Given the description of an element on the screen output the (x, y) to click on. 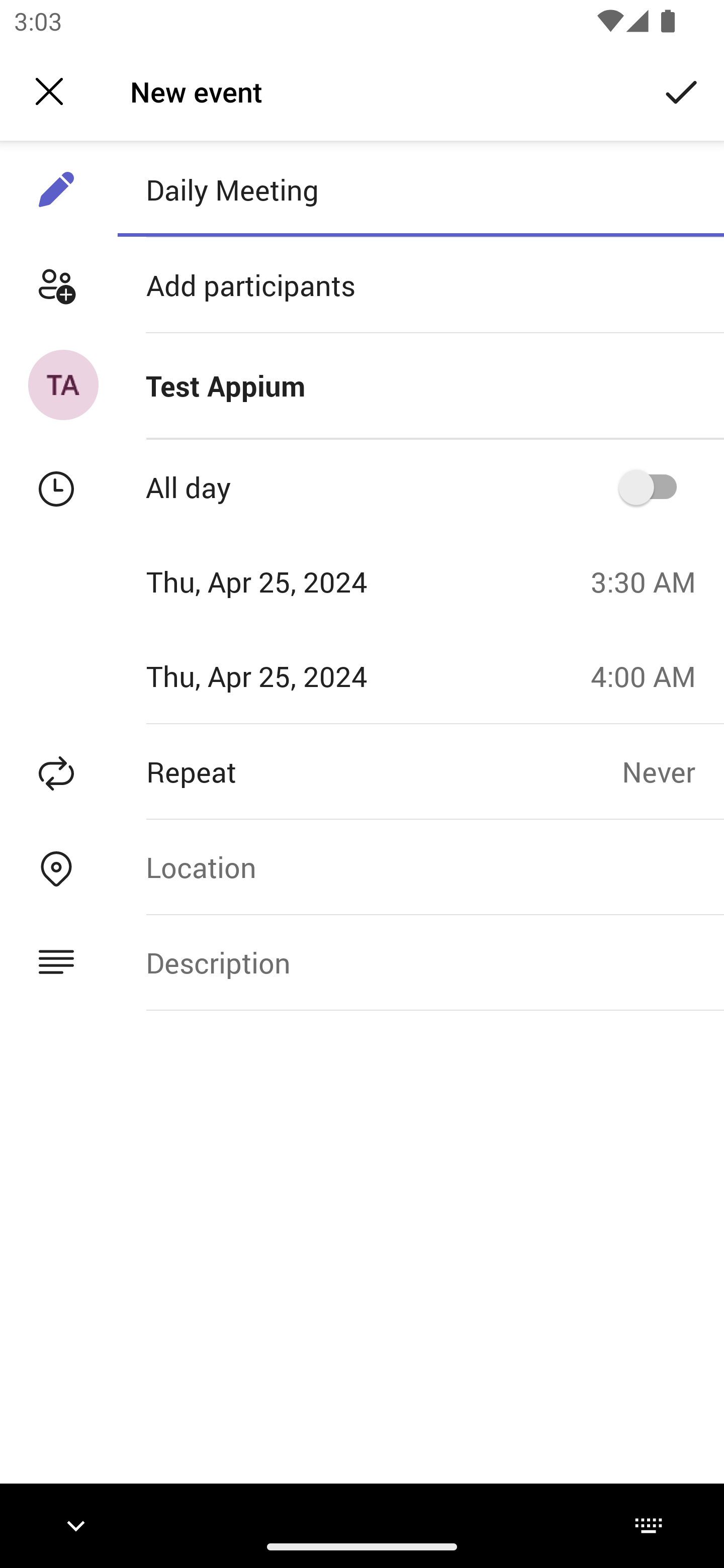
Back (49, 91)
Send invite (681, 90)
Daily Meeting (420, 189)
Add participants Add participants option (362, 285)
All day (654, 486)
Thu, Apr 25, 2024 Starts Thursday Apr 25, 2024 (288, 581)
3:30 AM Start time 3:30 AM (650, 581)
Thu, Apr 25, 2024 Ends Thursday Apr 25, 2024 (288, 675)
4:00 AM End time 4:00 AM (650, 675)
Repeat (310, 771)
Never Repeat Never (672, 771)
Location (420, 867)
Description (420, 962)
